Given the description of an element on the screen output the (x, y) to click on. 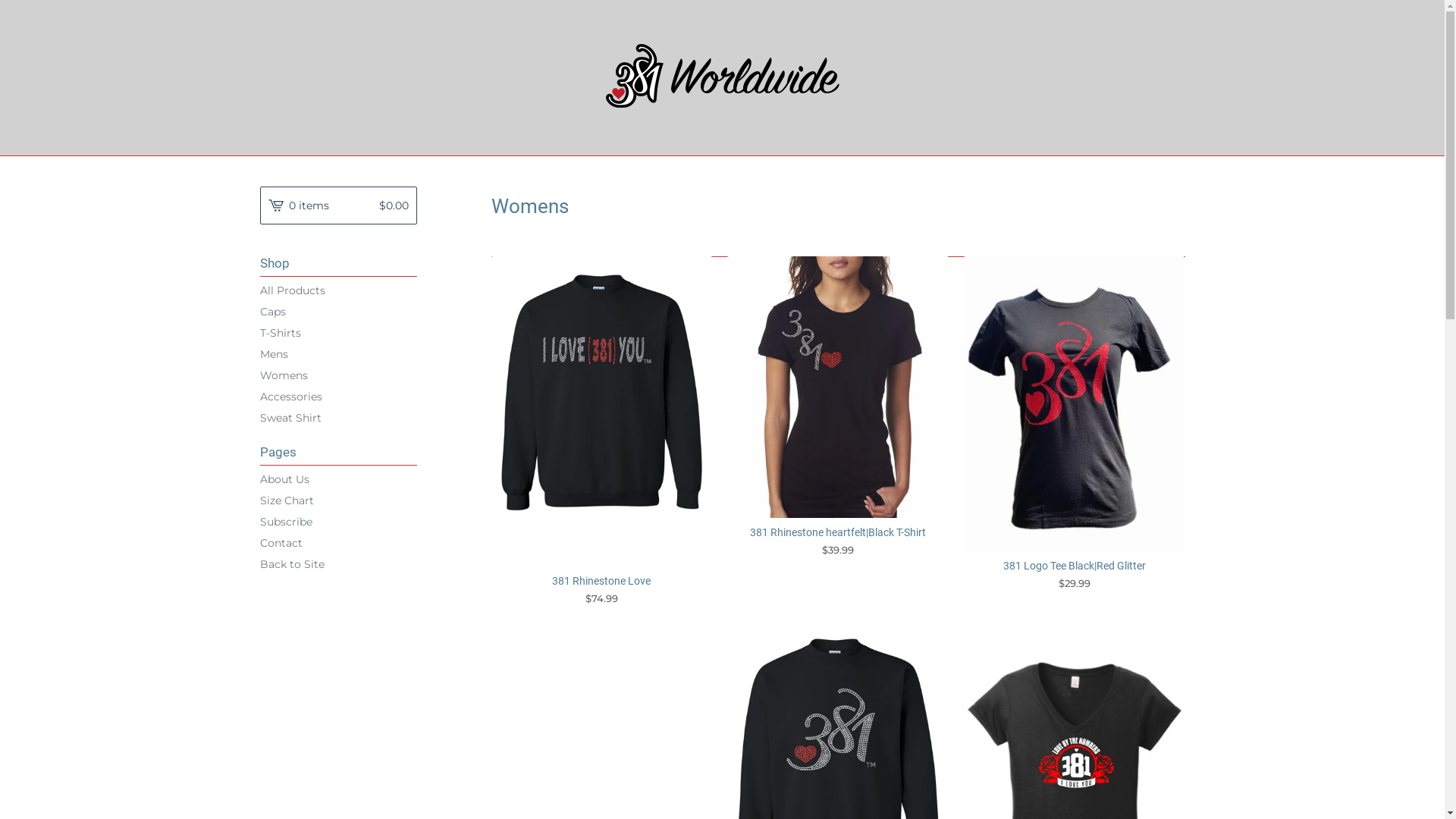
All Products Element type: text (337, 290)
Size Chart Element type: text (337, 500)
381worldwide Element type: hover (721, 75)
Caps Element type: text (337, 311)
About Us Element type: text (337, 478)
Contact Element type: text (337, 542)
Mens Element type: text (337, 353)
Sweat Shirt Element type: text (337, 417)
Womens Element type: text (337, 374)
381 Rhinestone heartfelt|Black T-Shirt
$39.99 Element type: text (837, 406)
381 Rhinestone Love
$74.99 Element type: text (601, 430)
T-Shirts Element type: text (337, 332)
Accessories Element type: text (337, 396)
381 Logo Tee Black|Red Glitter
$29.99 Element type: text (1074, 422)
Back to Site Element type: text (337, 563)
Subscribe Element type: text (337, 521)
0 items
$0.00 Element type: text (337, 205)
